Given the description of an element on the screen output the (x, y) to click on. 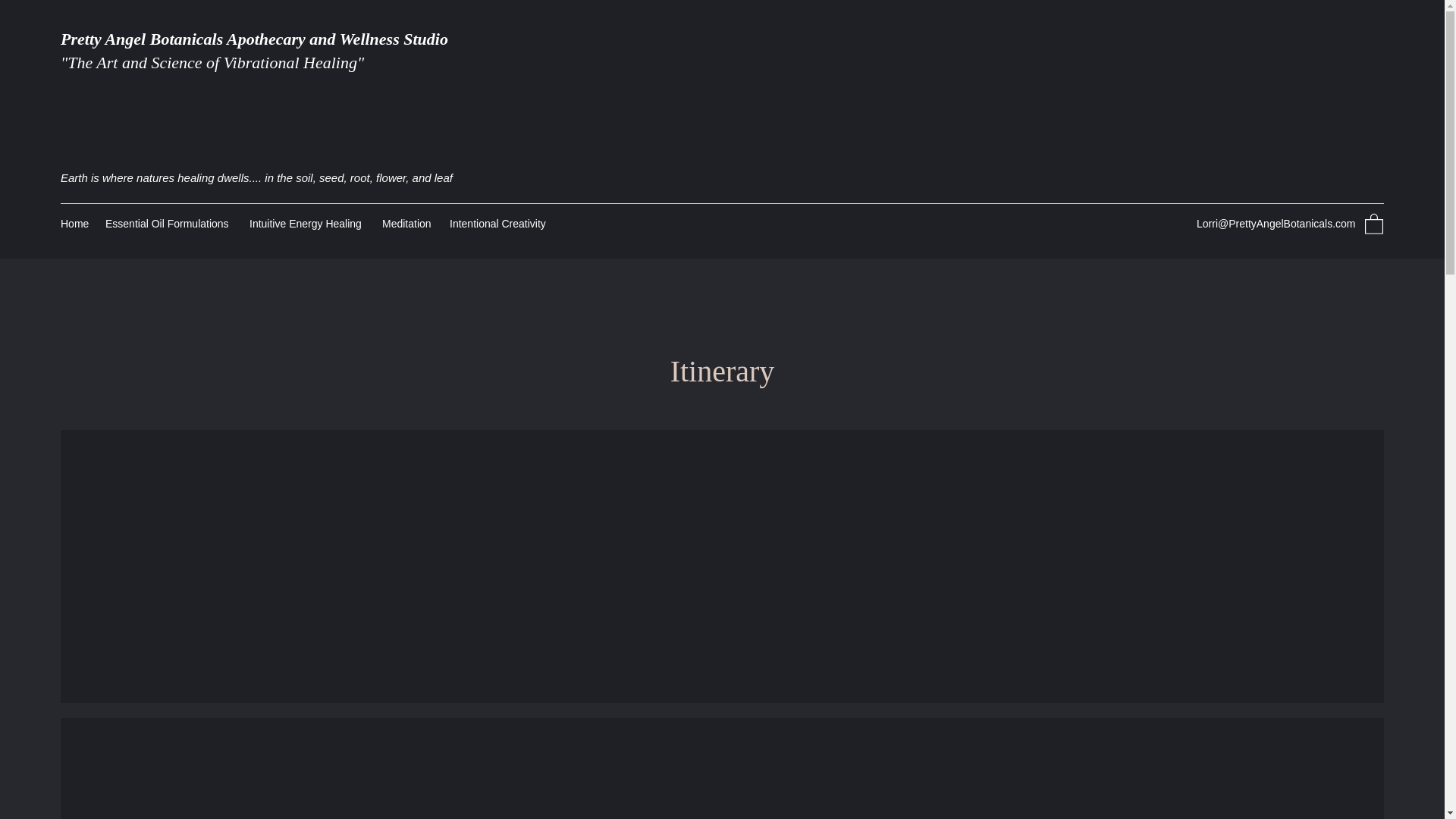
Intuitive Energy Healing (307, 223)
Home (74, 223)
Intentional Creativity (500, 223)
Essential Oil Formulations (169, 223)
Meditation (408, 223)
